Given the description of an element on the screen output the (x, y) to click on. 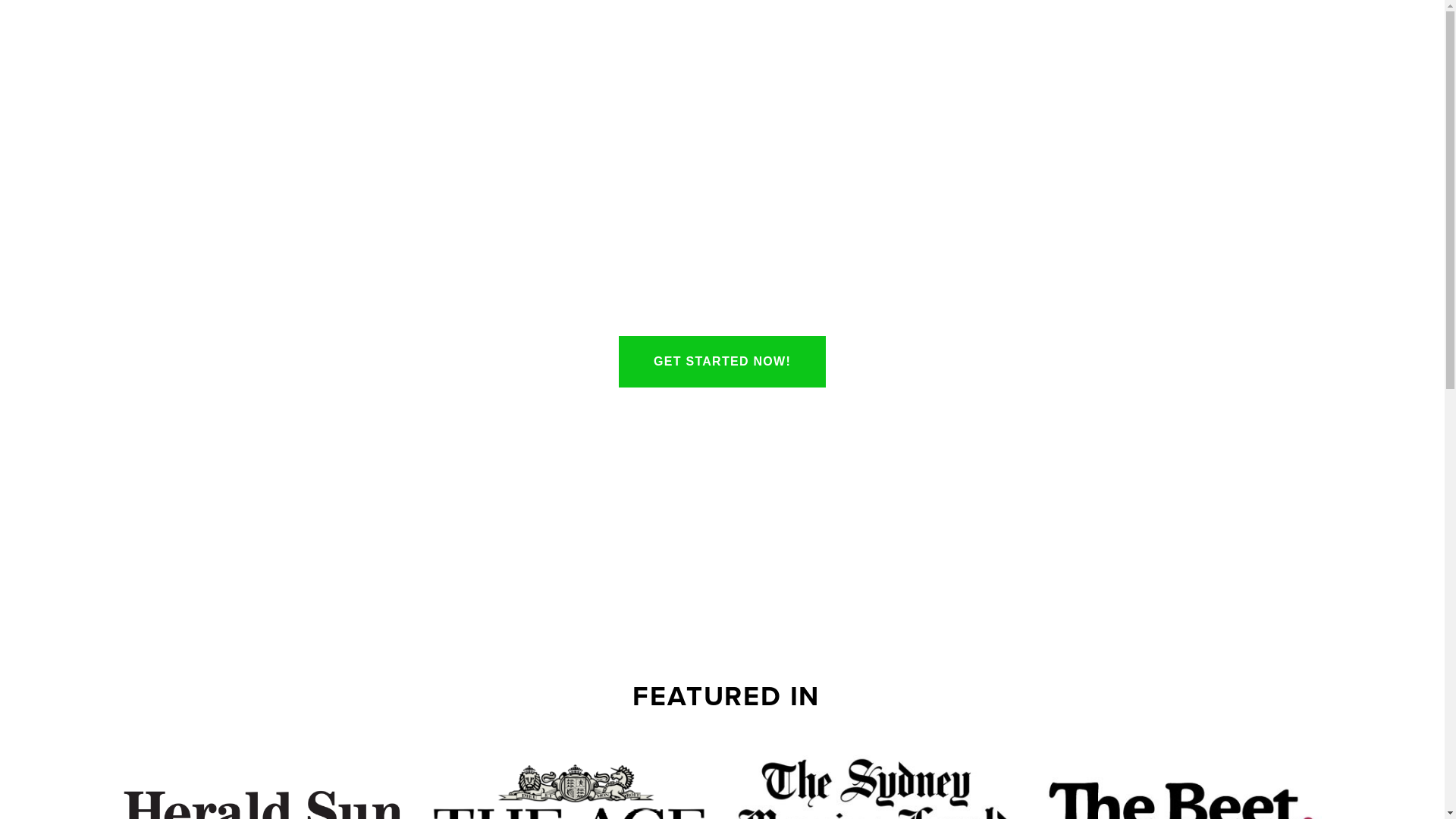
GET STARTED NOW! Element type: text (721, 361)
